Given the description of an element on the screen output the (x, y) to click on. 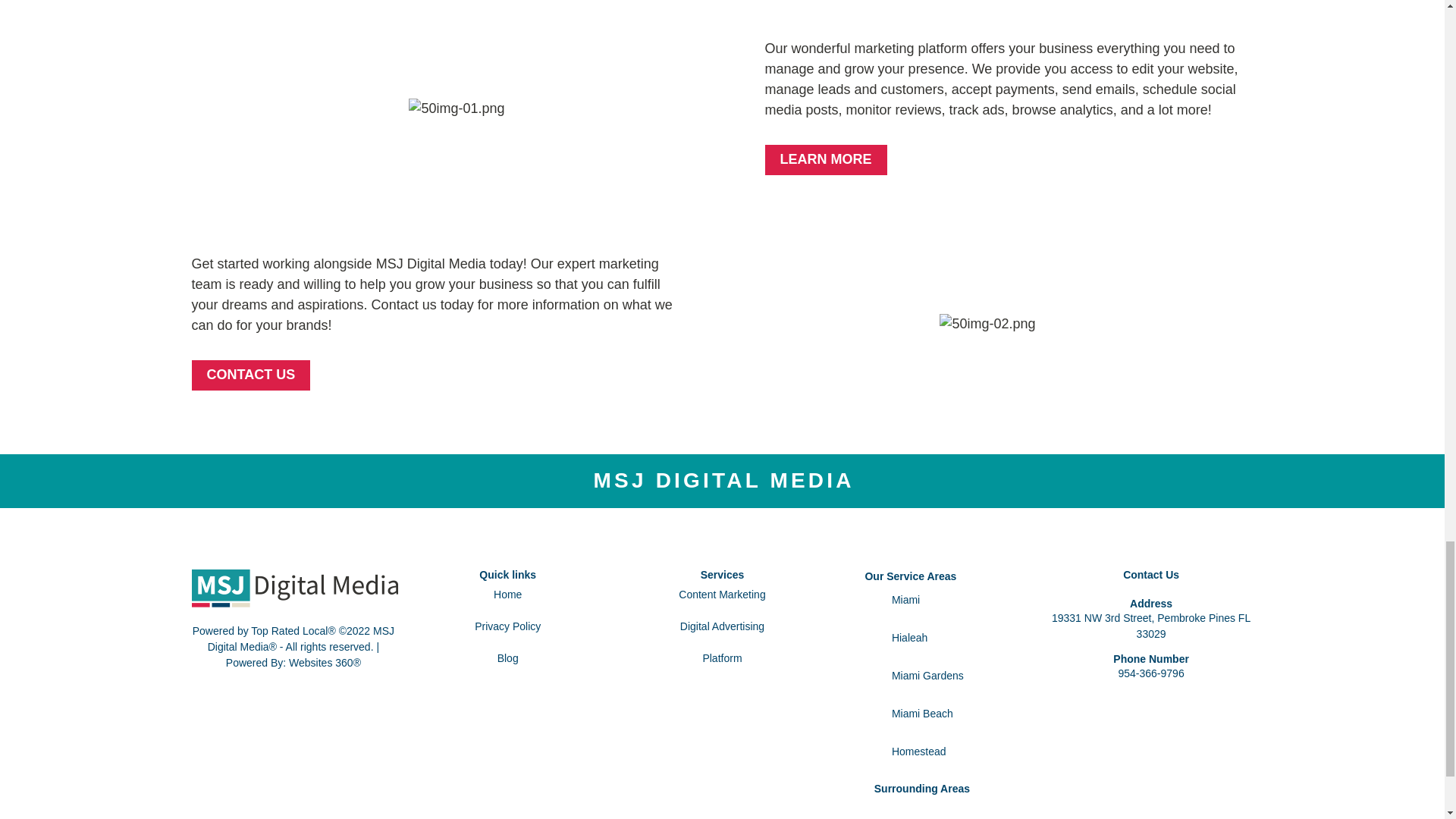
LEARN MORE (825, 159)
Miami (948, 599)
Platform (721, 657)
Miami Gardens (948, 675)
Hialeah (948, 637)
CONTACT US (250, 375)
Content Marketing (721, 594)
Privacy Policy (507, 625)
Home (507, 594)
Homestead (948, 751)
